Given the description of an element on the screen output the (x, y) to click on. 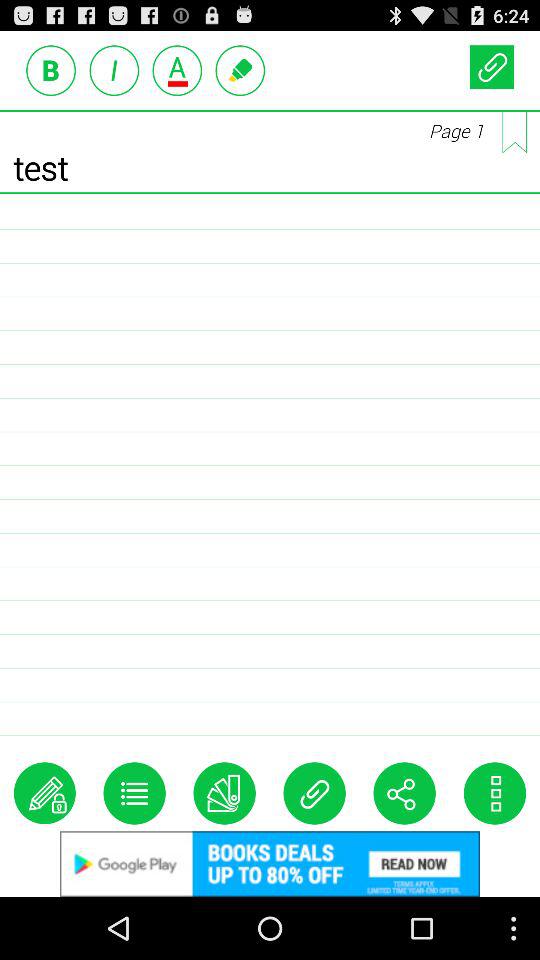
go to settings (494, 793)
